Given the description of an element on the screen output the (x, y) to click on. 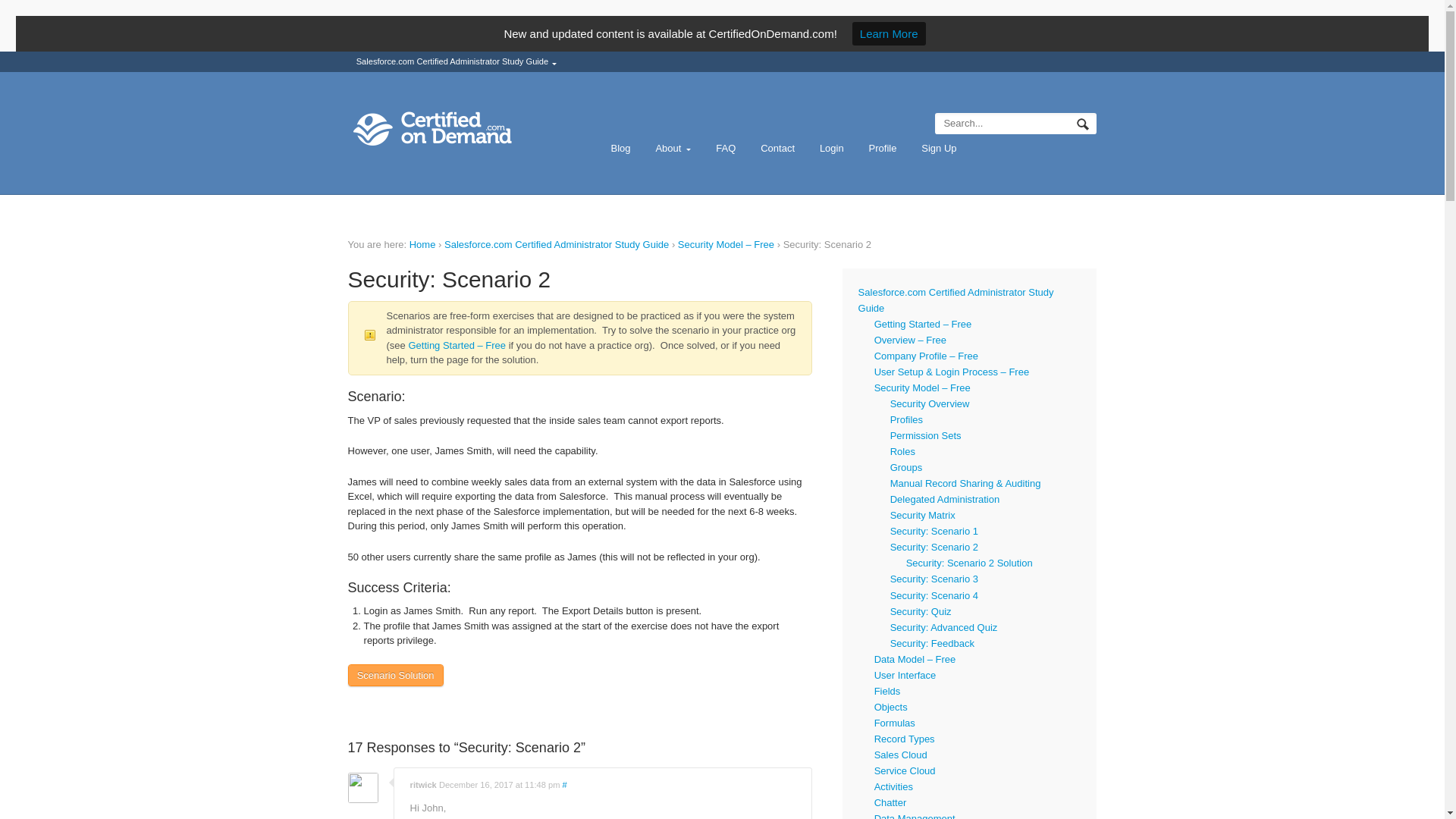
Certified On Demand (422, 244)
Salesforce.com Certified Administrator Study Guide (556, 244)
Learn More (888, 33)
Study Guides for Salesforce Certification (461, 128)
Search (1084, 125)
Search (1084, 125)
Salesforce.com Certified Administrator Study Guide (456, 61)
